Given the description of an element on the screen output the (x, y) to click on. 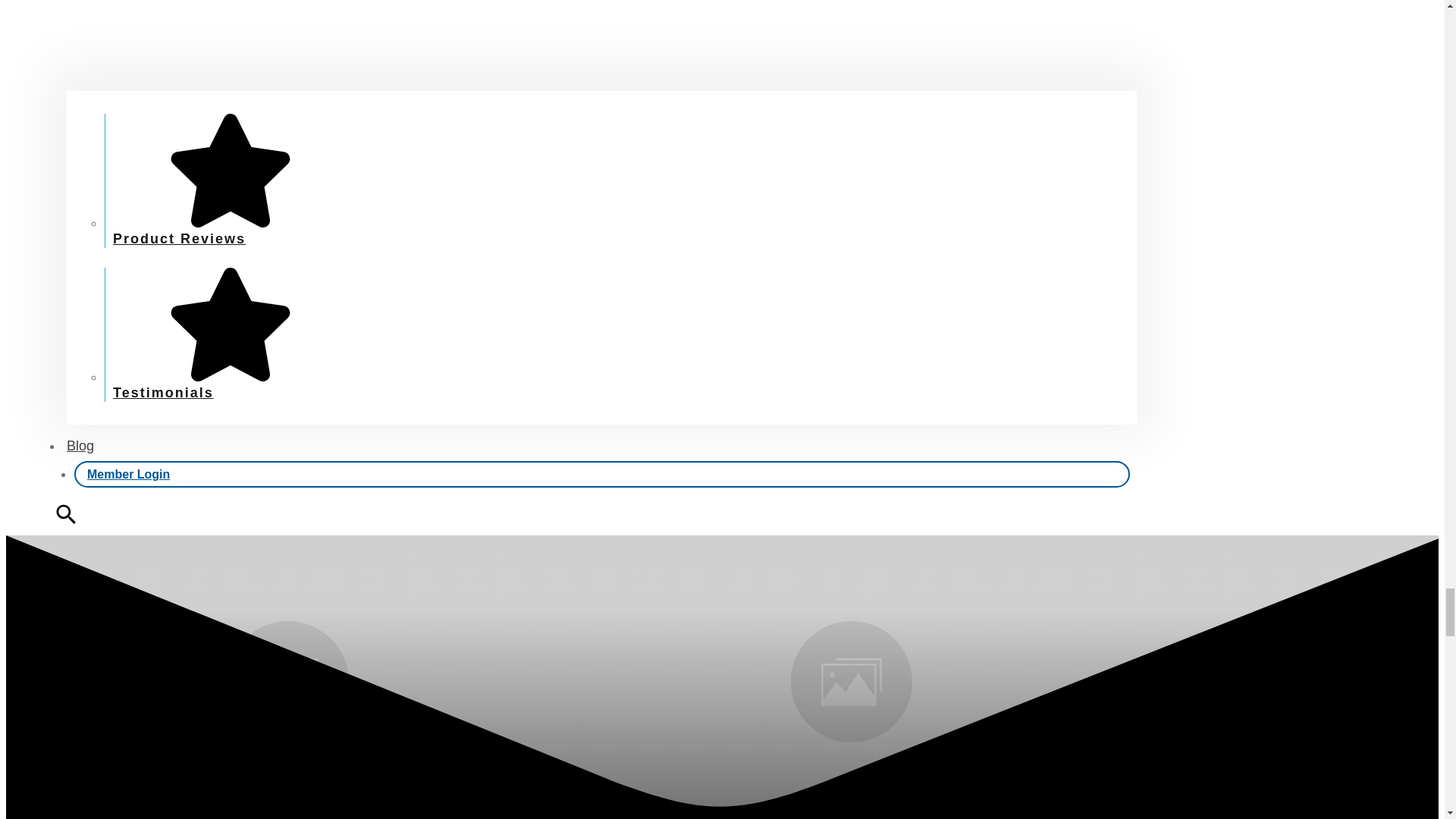
Product Reviews (228, 231)
Member Login (128, 473)
Customer Feedback (601, 45)
Blog (80, 445)
Testimonials (228, 385)
